Given the description of an element on the screen output the (x, y) to click on. 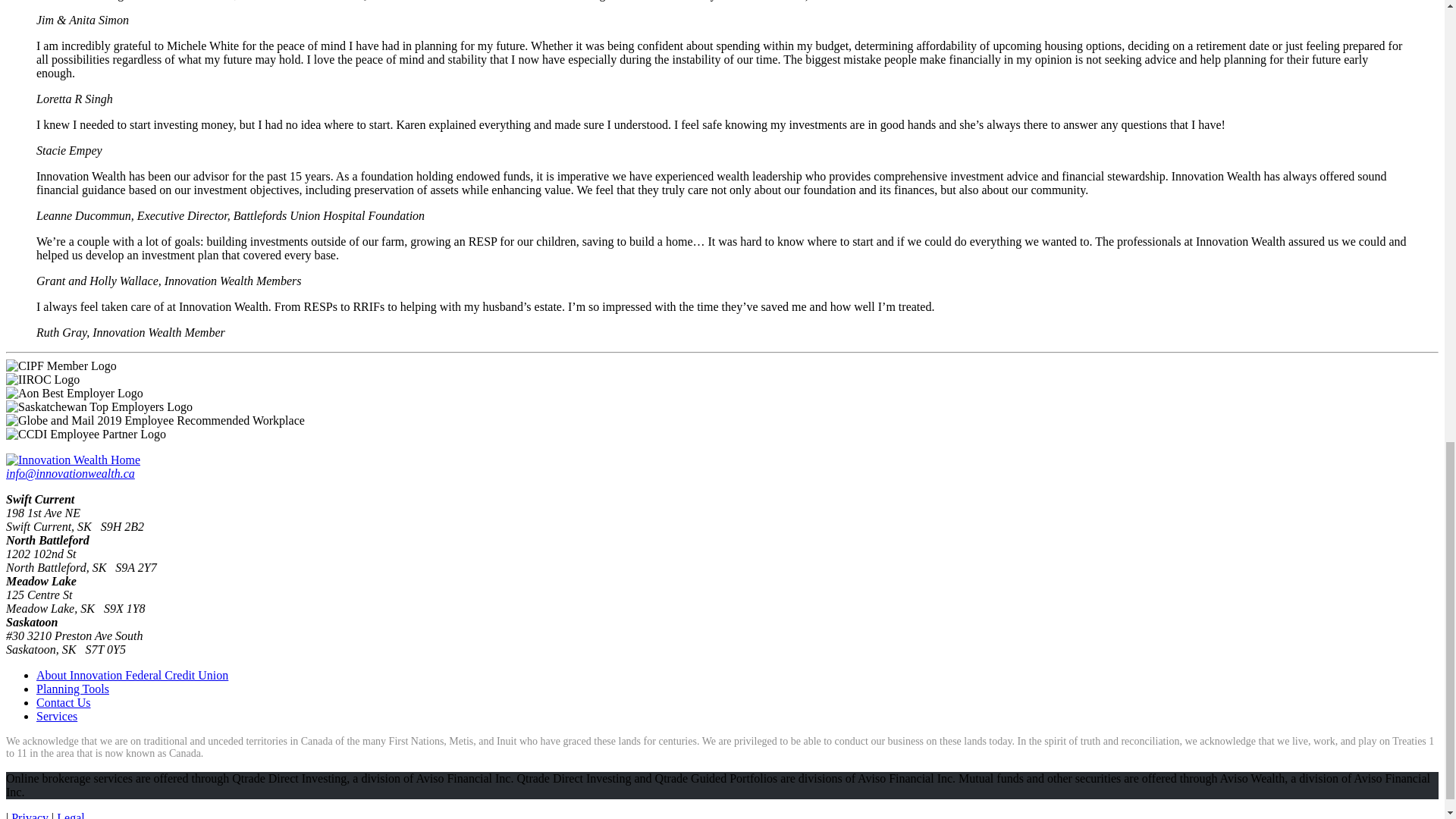
Stacie Empey,  (68, 150)
Loretta R Singh,  (74, 98)
Planning Tools (72, 688)
Services (56, 716)
Contact Us (63, 702)
Grant and Holly Wallace, Innovation Wealth Members (168, 280)
About Innovation Federal Credit Union (132, 675)
Ruth Gray, Innovation Wealth Member (130, 332)
